Given the description of an element on the screen output the (x, y) to click on. 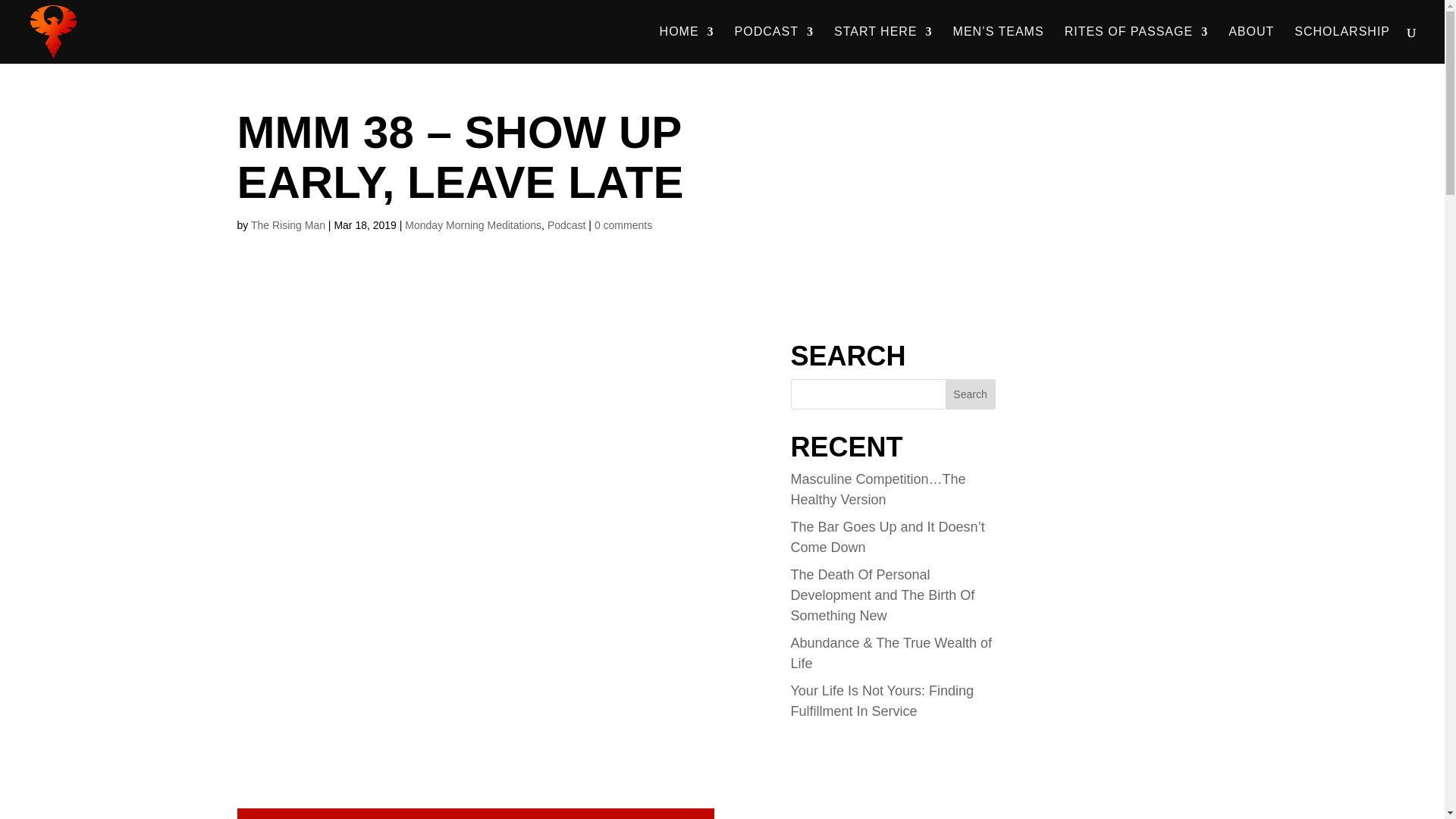
START HERE (883, 44)
Monday Morning Meditations (472, 224)
0 comments (623, 224)
PODCAST (774, 44)
Search (969, 394)
SCHOLARSHIP (1342, 44)
HOME (686, 44)
Search (969, 394)
Podcast (566, 224)
Your Life Is Not Yours: Finding Fulfillment In Service (882, 701)
RITES OF PASSAGE (1136, 44)
The Rising Man (287, 224)
ABOUT (1251, 44)
Posts by The Rising Man (287, 224)
